Given the description of an element on the screen output the (x, y) to click on. 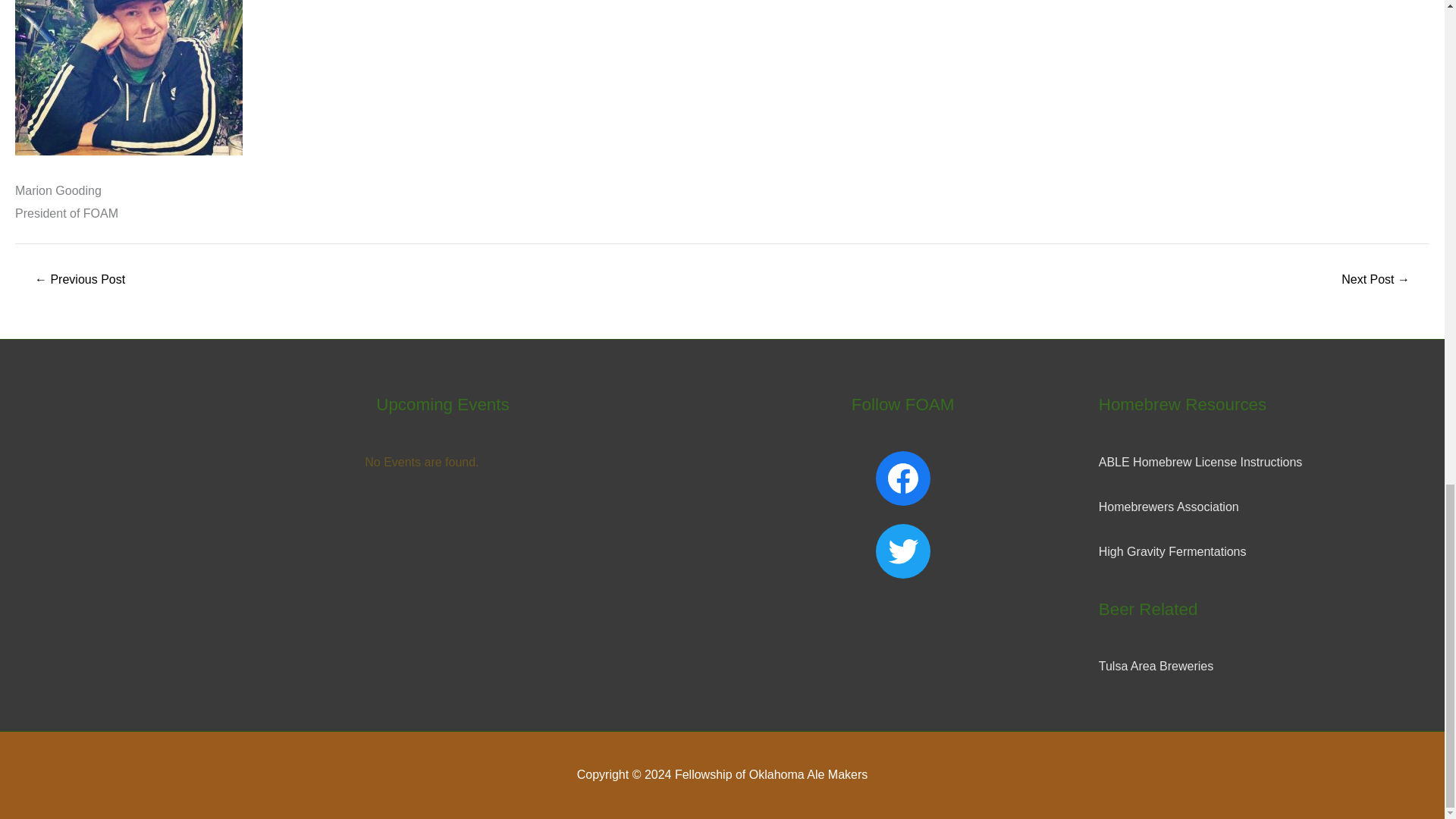
Upcoming competition season - information and dates (79, 279)
FOAM Christmas Party! (1375, 279)
